Given the description of an element on the screen output the (x, y) to click on. 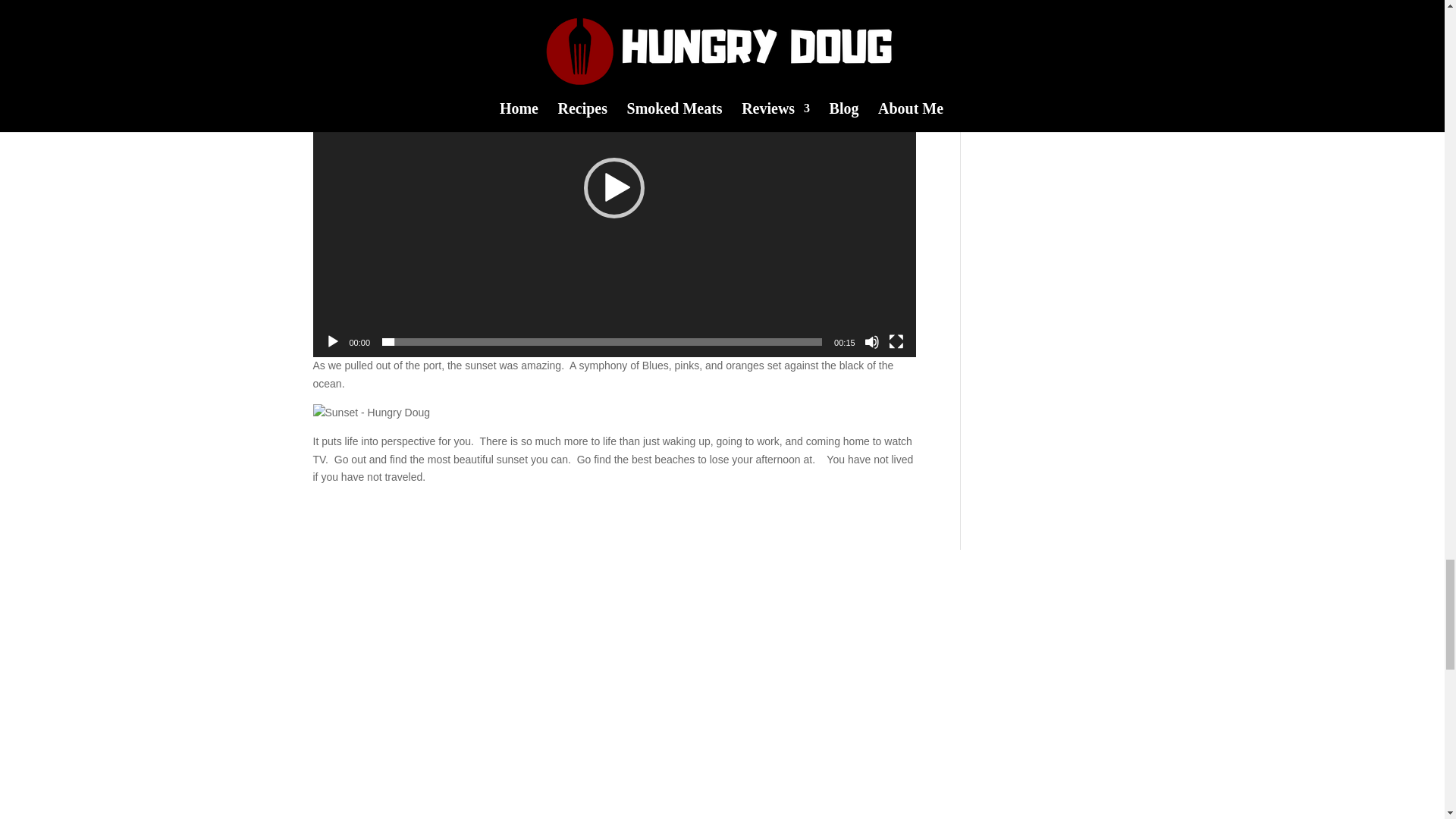
Play (331, 341)
Fullscreen (896, 341)
Mute (871, 341)
